Given the description of an element on the screen output the (x, y) to click on. 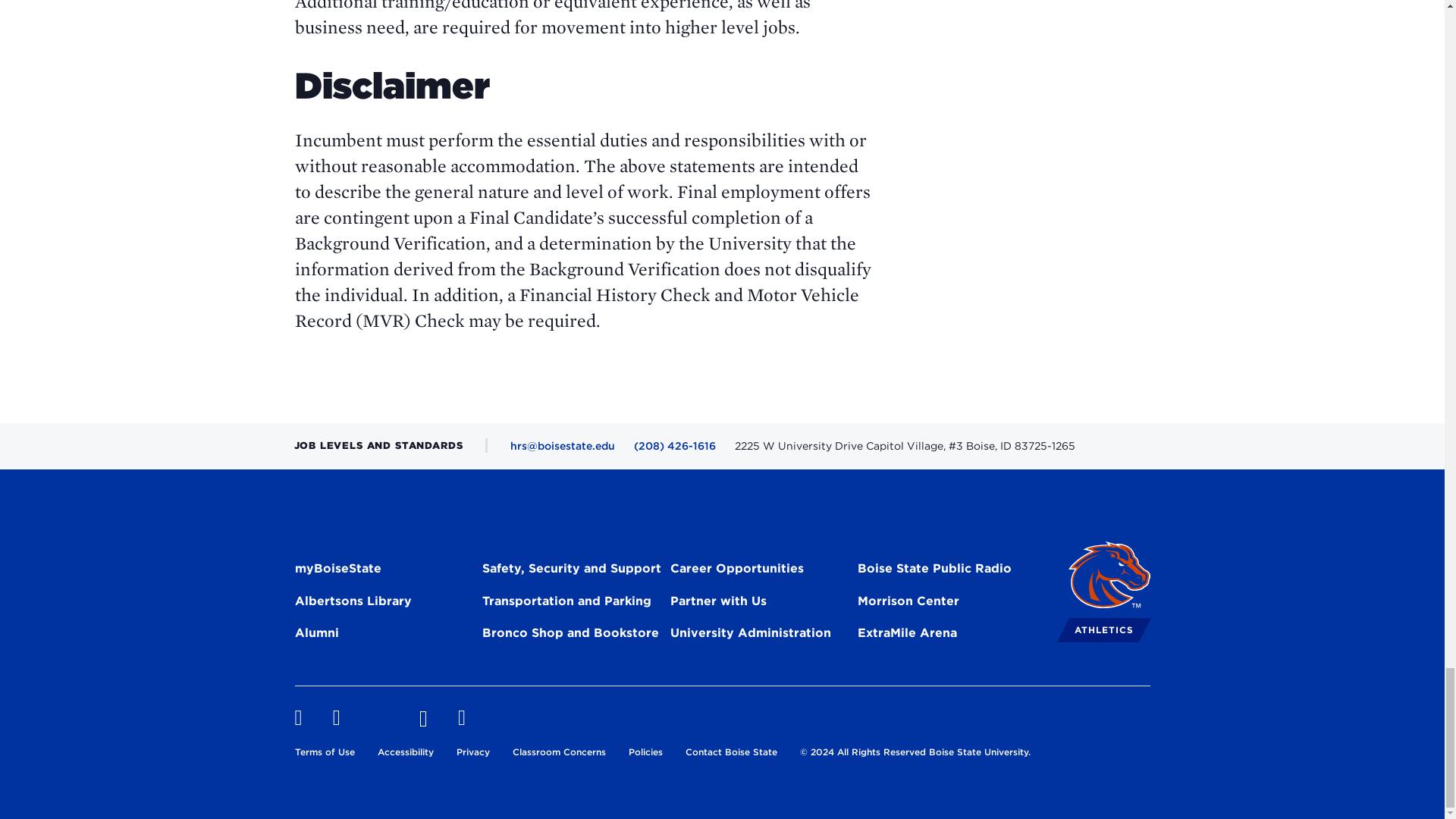
Transportation and Parking (565, 603)
Safety, Security and Support (571, 570)
Boise State Public Radio (934, 570)
Morrison Center (908, 603)
Follow us on X (379, 718)
myBoiseState (337, 570)
Alumni (315, 635)
Partner with Us (718, 603)
ExtraMile Arena (906, 635)
University Administration (750, 635)
